Given the description of an element on the screen output the (x, y) to click on. 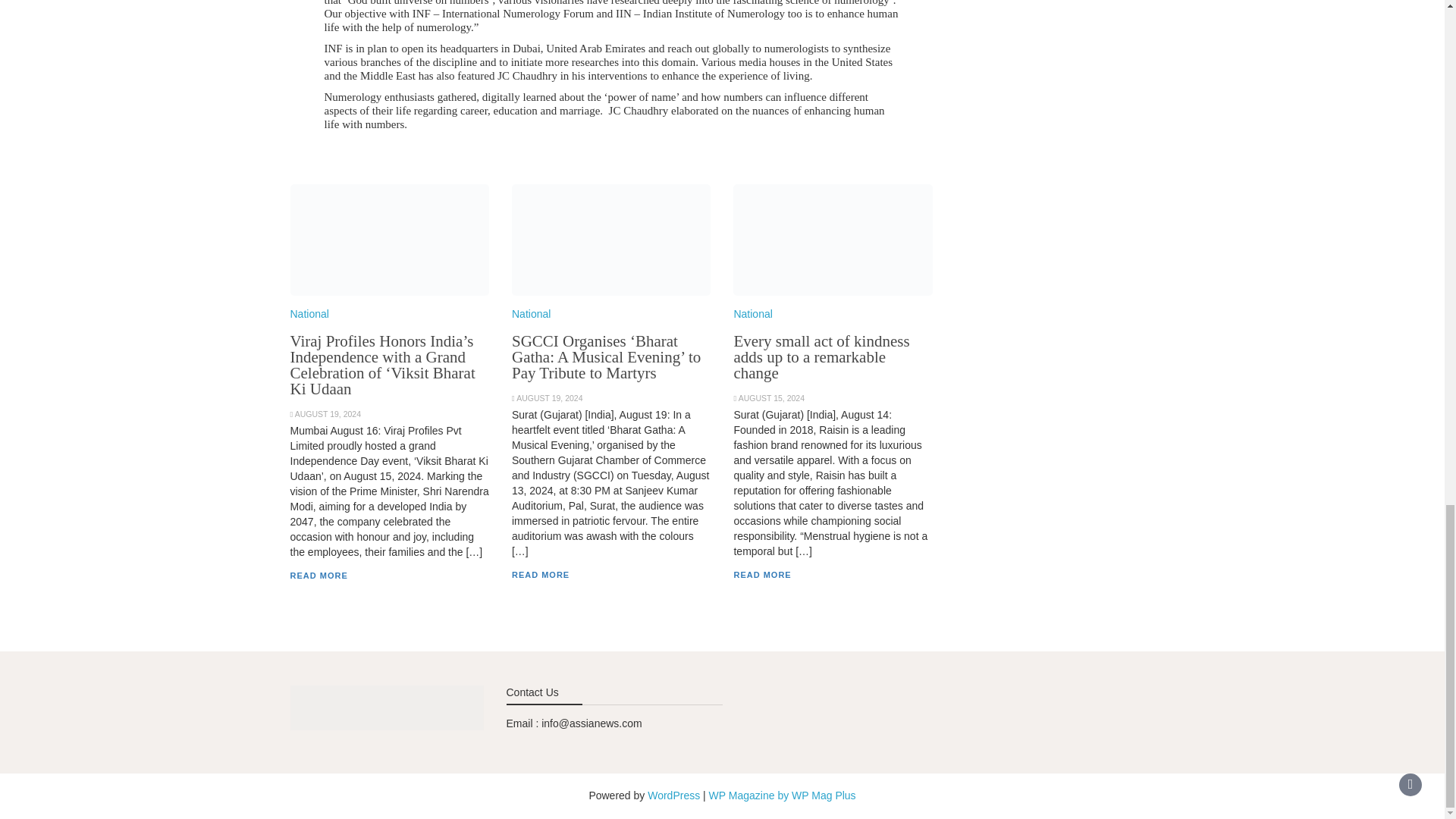
Every small act of kindness adds up to a remarkable change (820, 357)
WordPress (673, 795)
National (531, 313)
WP Magazine by WP Mag Plus (782, 795)
National (752, 313)
AUGUST 19, 2024 (549, 397)
READ MORE (540, 574)
READ MORE (761, 574)
National (309, 313)
AUGUST 19, 2024 (328, 413)
